Given the description of an element on the screen output the (x, y) to click on. 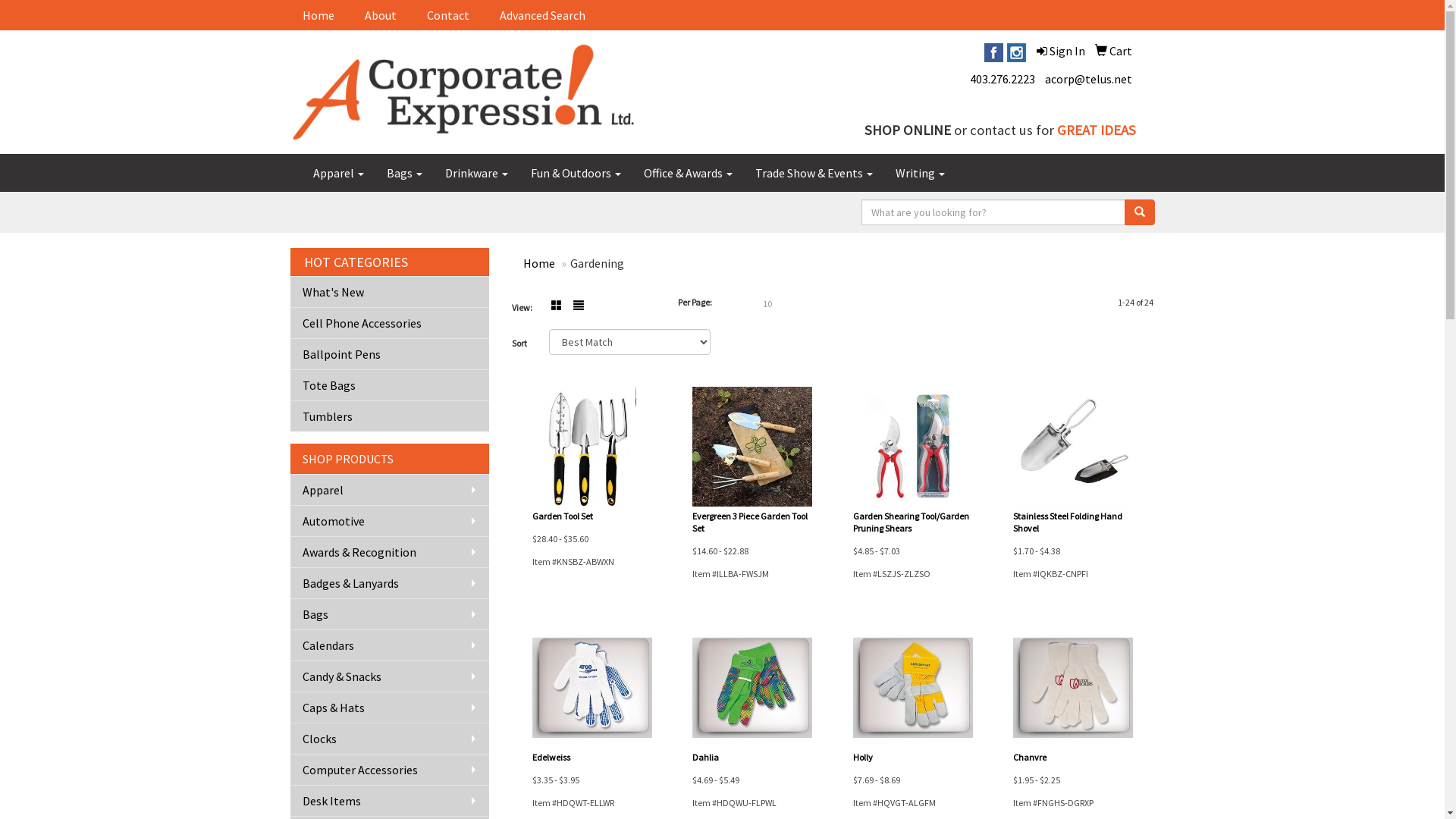
Writing Element type: text (920, 172)
Badges & Lanyards Element type: text (389, 582)
About Element type: text (382, 15)
Awards & Recognition Element type: text (389, 551)
Home Element type: text (320, 15)
Apparel Element type: text (338, 172)
Candy & Snacks Element type: text (389, 675)
Sign In Element type: text (1059, 50)
Apparel Element type: text (389, 489)
Bags Element type: text (389, 613)
Calendars Element type: text (389, 644)
Contact Element type: text (450, 15)
Visit us on Instagram Element type: hover (1016, 50)
Cart Element type: text (1113, 50)
Tote Bags Element type: text (389, 384)
What's New Element type: text (389, 291)
Caps & Hats Element type: text (389, 706)
Desk Items Element type: text (389, 799)
Bags Element type: text (403, 172)
acorp@telus.net Element type: text (1088, 78)
Advanced Search Element type: text (544, 15)
403.276.2223 Element type: text (1001, 78)
Clocks Element type: text (389, 737)
Office & Awards Element type: text (687, 172)
Computer Accessories Element type: text (389, 768)
Fun & Outdoors Element type: text (574, 172)
Cell Phone Accessories Element type: text (389, 322)
Automotive Element type: text (389, 520)
Ballpoint Pens Element type: text (389, 353)
Drinkware Element type: text (476, 172)
Trade Show & Events Element type: text (813, 172)
Visit us on Facebook Element type: hover (993, 50)
Tumblers Element type: text (389, 415)
